Given the description of an element on the screen output the (x, y) to click on. 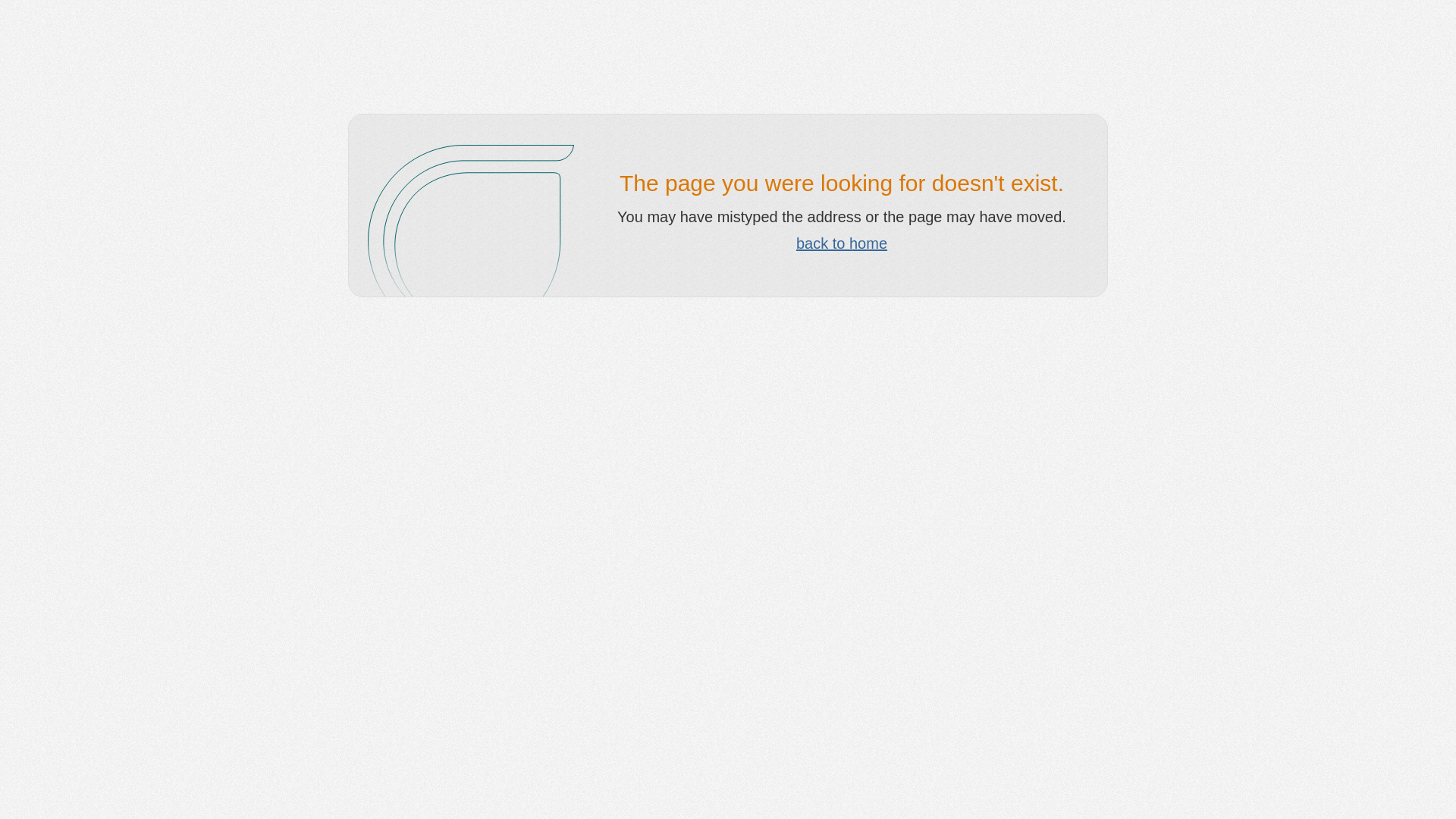
back to home Element type: text (841, 243)
